Given the description of an element on the screen output the (x, y) to click on. 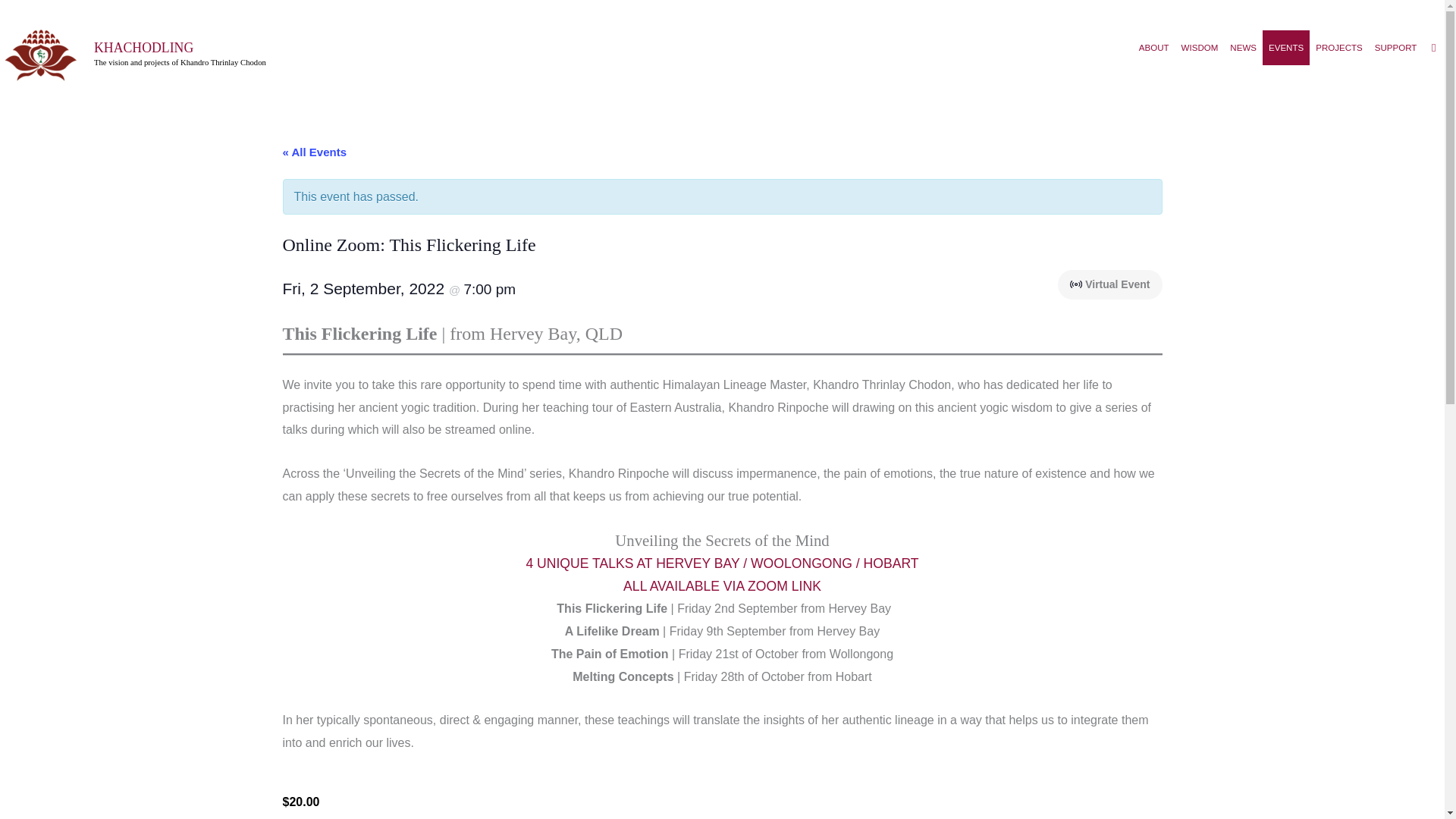
WISDOM (1199, 47)
Virtual Event (1077, 284)
Virtual Event (1075, 284)
KHACHODLING (143, 47)
ABOUT (1153, 47)
EVENTS (1285, 47)
NEWS (1243, 47)
PROJECTS (1338, 47)
